Given the description of an element on the screen output the (x, y) to click on. 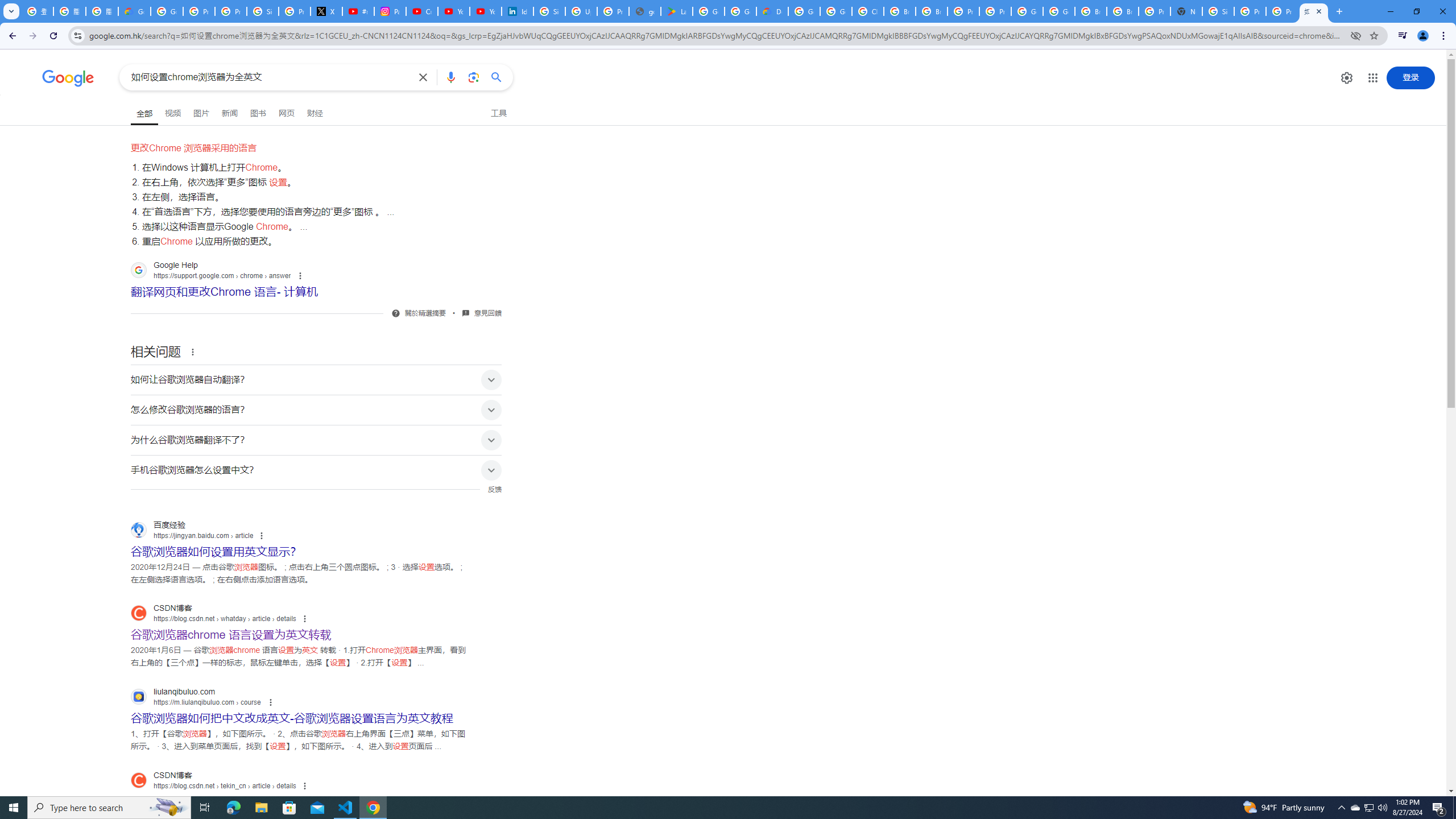
Google Cloud Privacy Notice (134, 11)
Google Cloud Platform (1059, 11)
New Tab (1185, 11)
Sign in - Google Accounts (1217, 11)
